Given the description of an element on the screen output the (x, y) to click on. 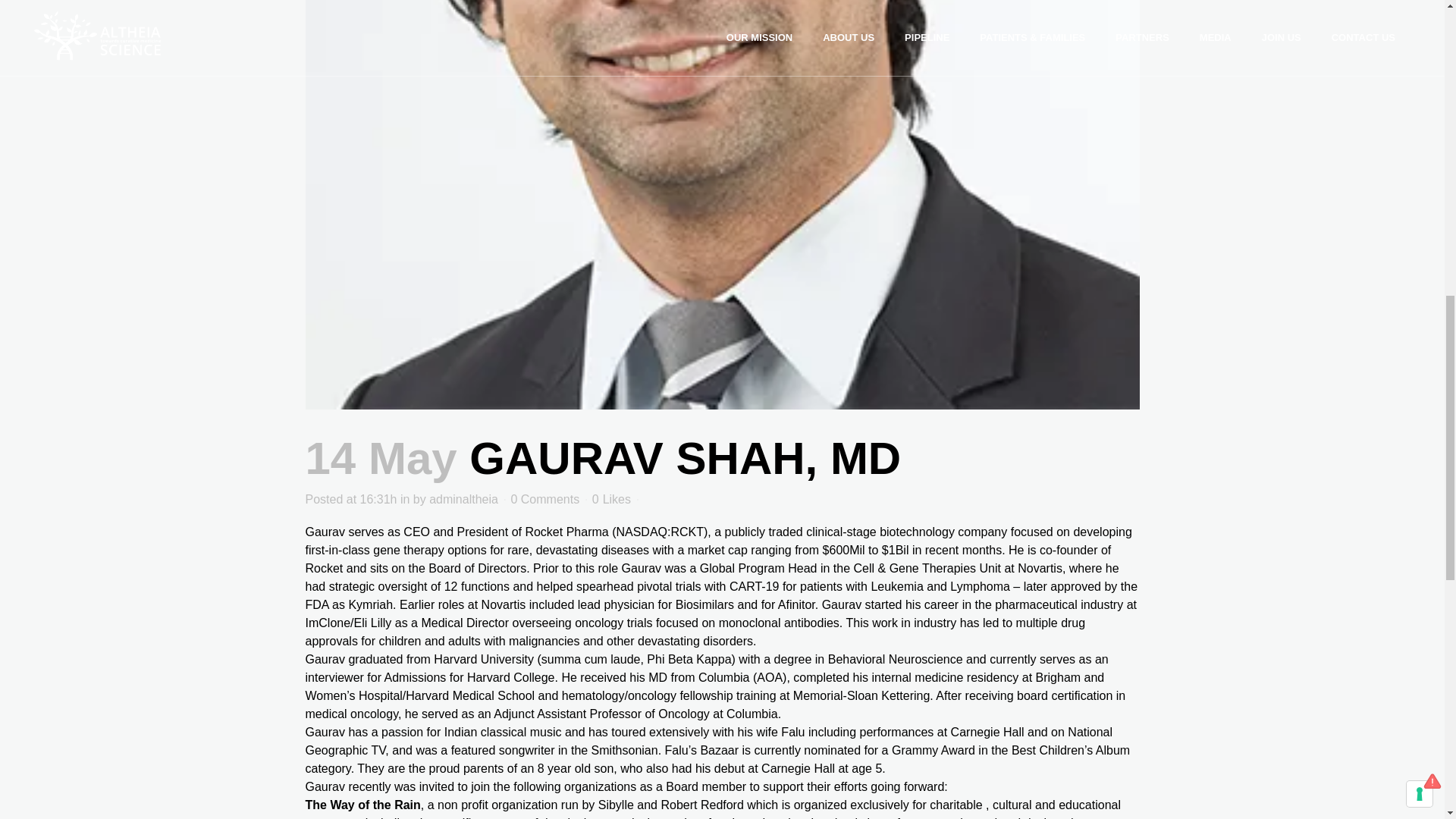
Like this (611, 499)
0 Likes (611, 499)
0 Comments (545, 499)
adminaltheia (463, 499)
